Given the description of an element on the screen output the (x, y) to click on. 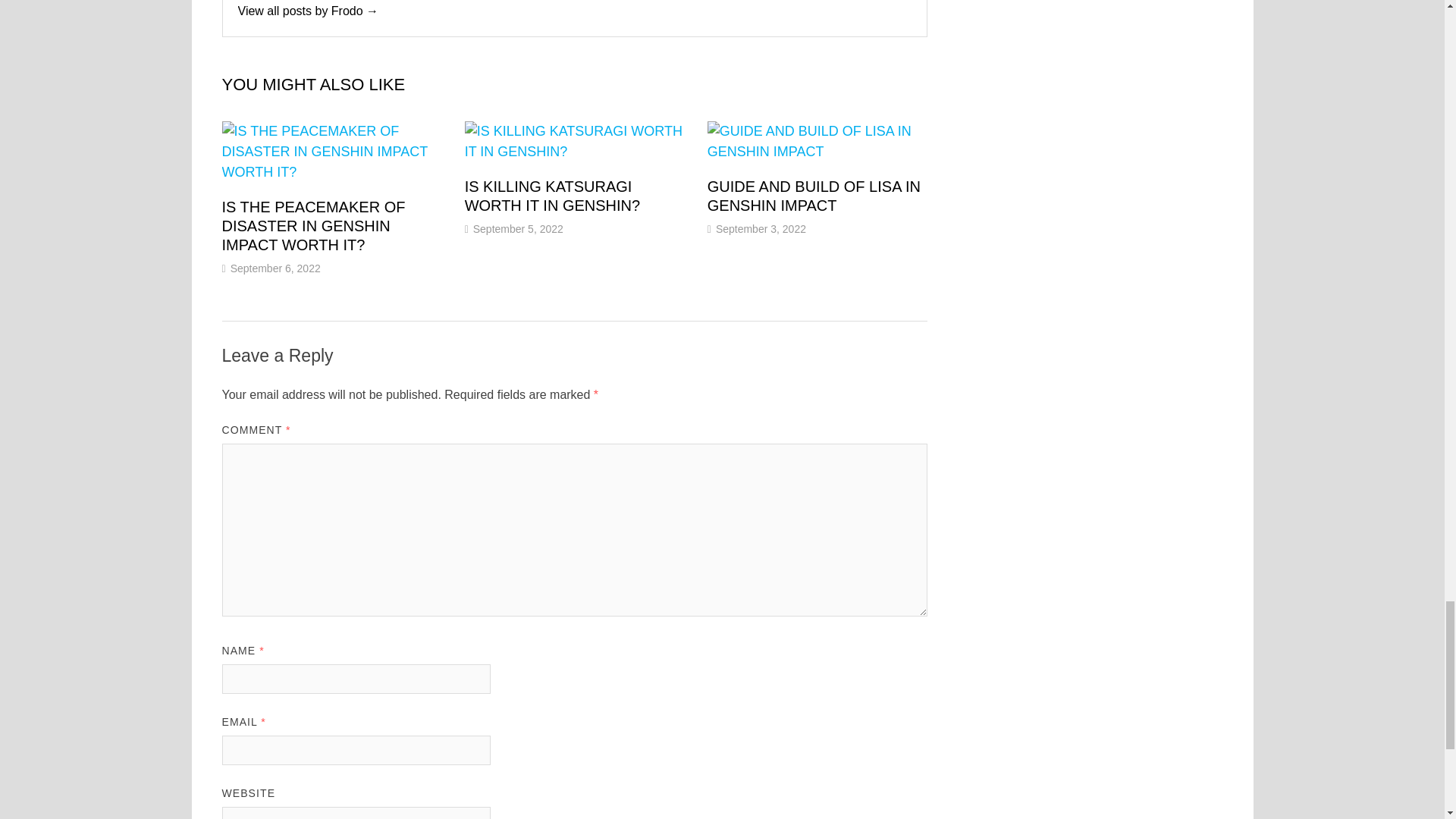
September 3, 2022 (761, 228)
September 5, 2022 (518, 228)
GUIDE AND BUILD OF LISA IN GENSHIN IMPACT (813, 195)
IS KILLING KATSURAGI WORTH IT IN GENSHIN? (552, 195)
Frodo (308, 10)
September 6, 2022 (275, 268)
IS KILLING KATSURAGI WORTH IT IN GENSHIN? (552, 195)
GUIDE AND BUILD OF LISA IN GENSHIN IMPACT (813, 195)
IS THE PEACEMAKER OF DISASTER IN GENSHIN IMPACT WORTH IT? (312, 226)
IS THE PEACEMAKER OF DISASTER IN GENSHIN IMPACT WORTH IT? (312, 226)
